Given the description of an element on the screen output the (x, y) to click on. 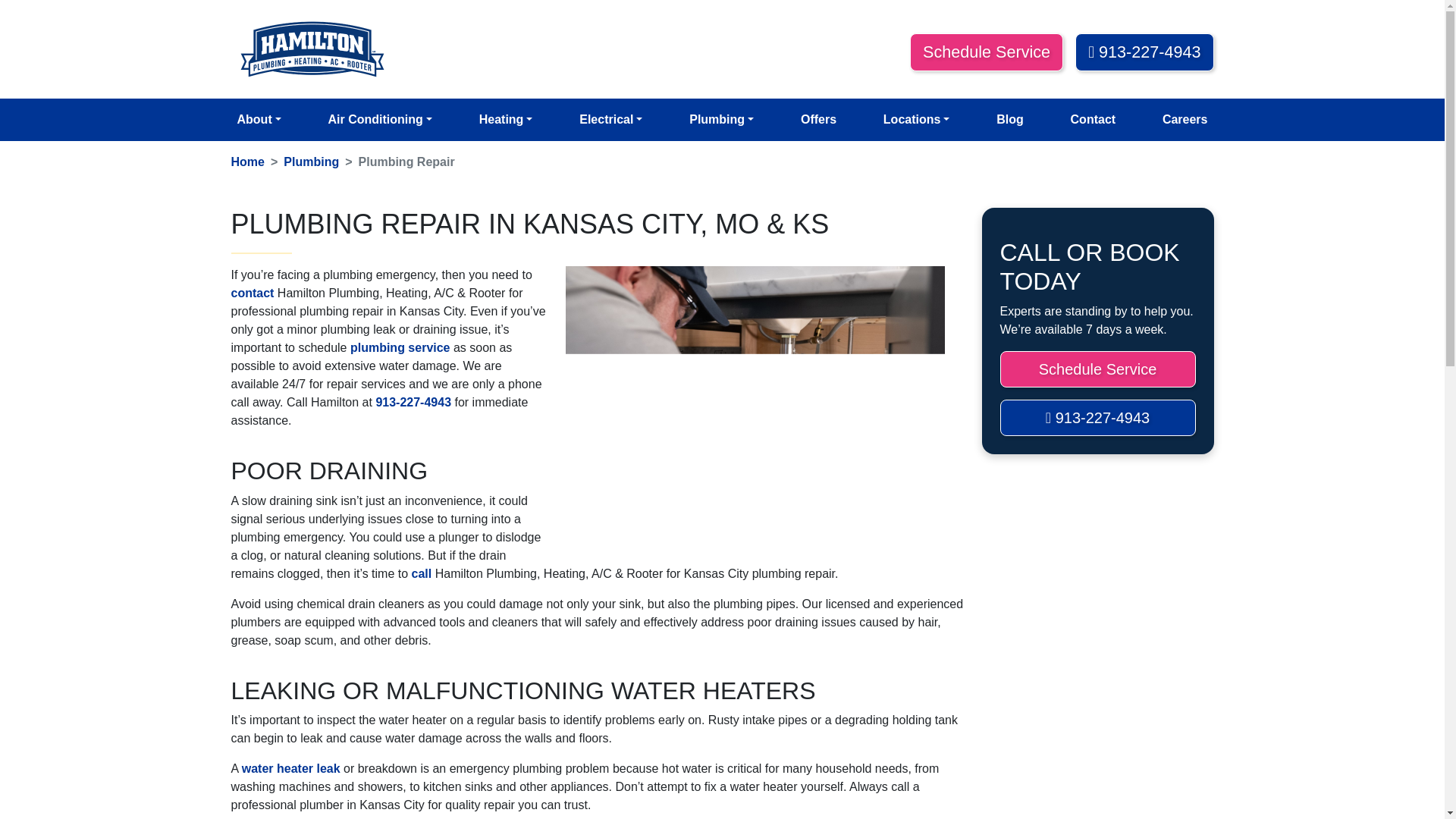
Air Conditioning (379, 119)
Plumbing (721, 119)
Schedule Service (986, 52)
About (258, 119)
 913-227-4943 (1143, 52)
Heating (505, 119)
Electrical (610, 119)
